Given the description of an element on the screen output the (x, y) to click on. 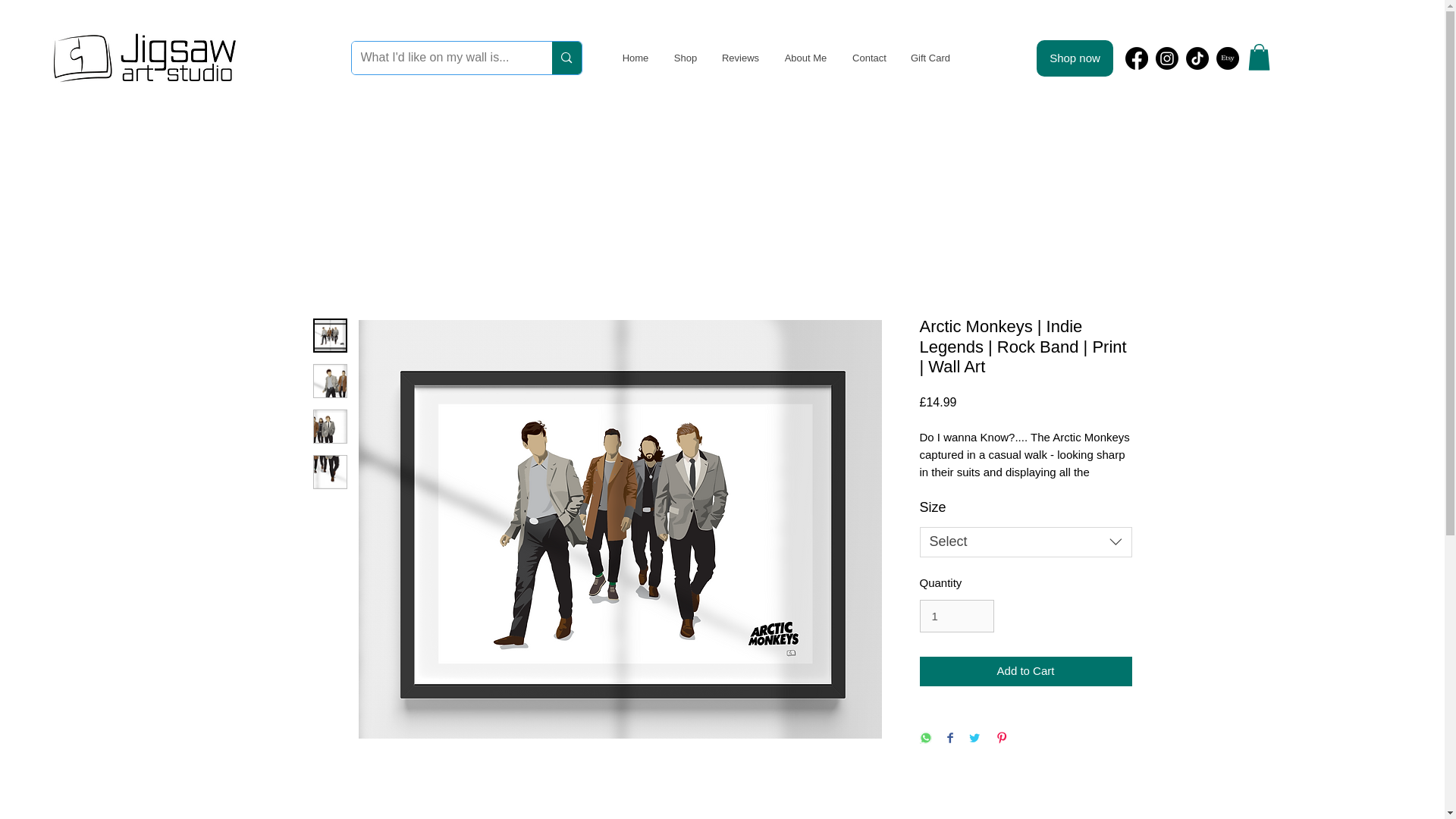
Shop (685, 58)
Shop now (1074, 58)
Contact (869, 58)
Reviews (740, 58)
Select (1024, 542)
Gift Card (929, 58)
Home (634, 58)
About Me (805, 58)
Add to Cart (1024, 671)
1 (955, 616)
